Given the description of an element on the screen output the (x, y) to click on. 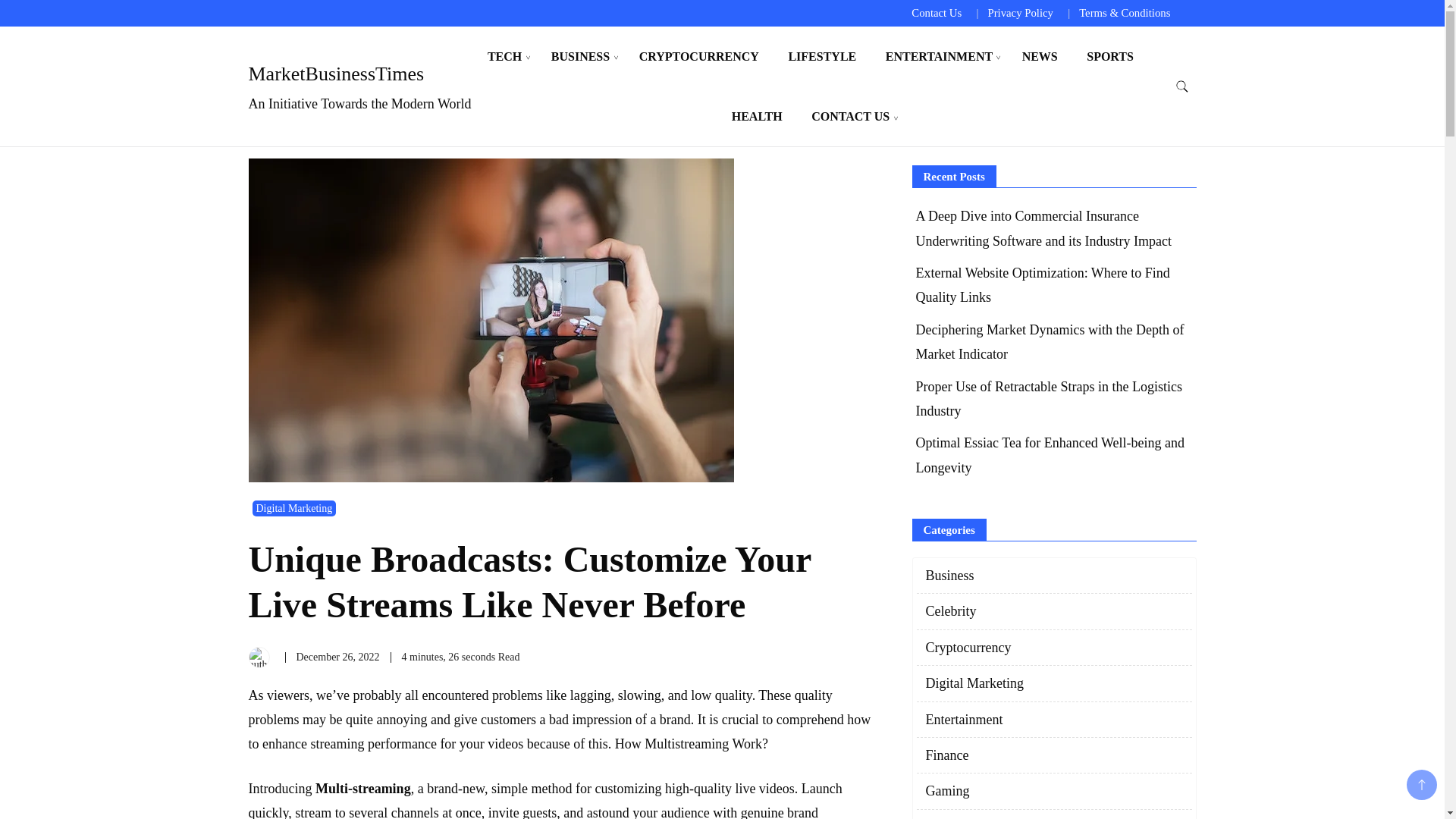
BUSINESS (580, 56)
LIFESTYLE (821, 56)
NEWS (1039, 56)
HEALTH (756, 116)
ENTERTAINMENT (939, 56)
CRYPTOCURRENCY (698, 56)
Contact Us (935, 12)
SPORTS (1110, 56)
CONTACT US (849, 116)
TECH (504, 56)
Privacy Policy (1019, 12)
MarketBusinessTimes (336, 74)
